Given the description of an element on the screen output the (x, y) to click on. 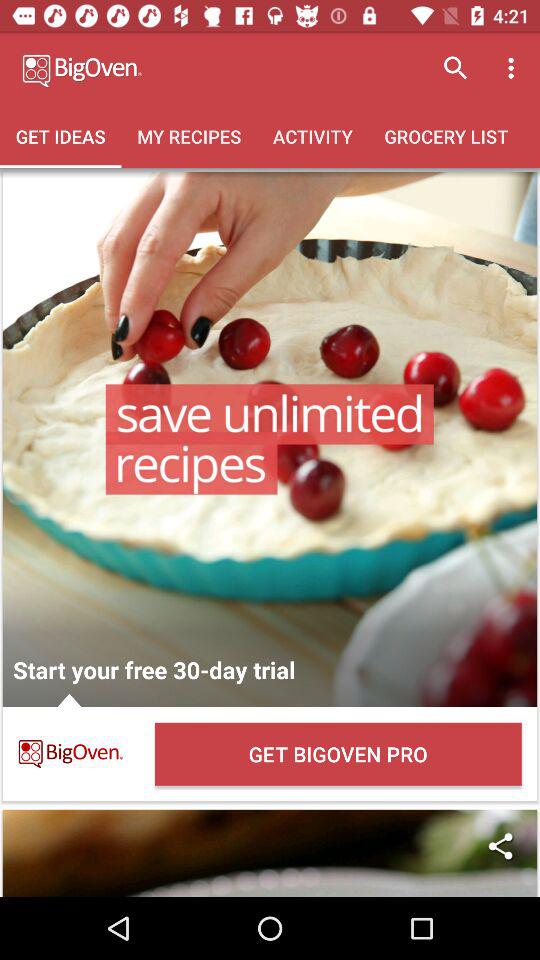
share to friends (269, 853)
